Given the description of an element on the screen output the (x, y) to click on. 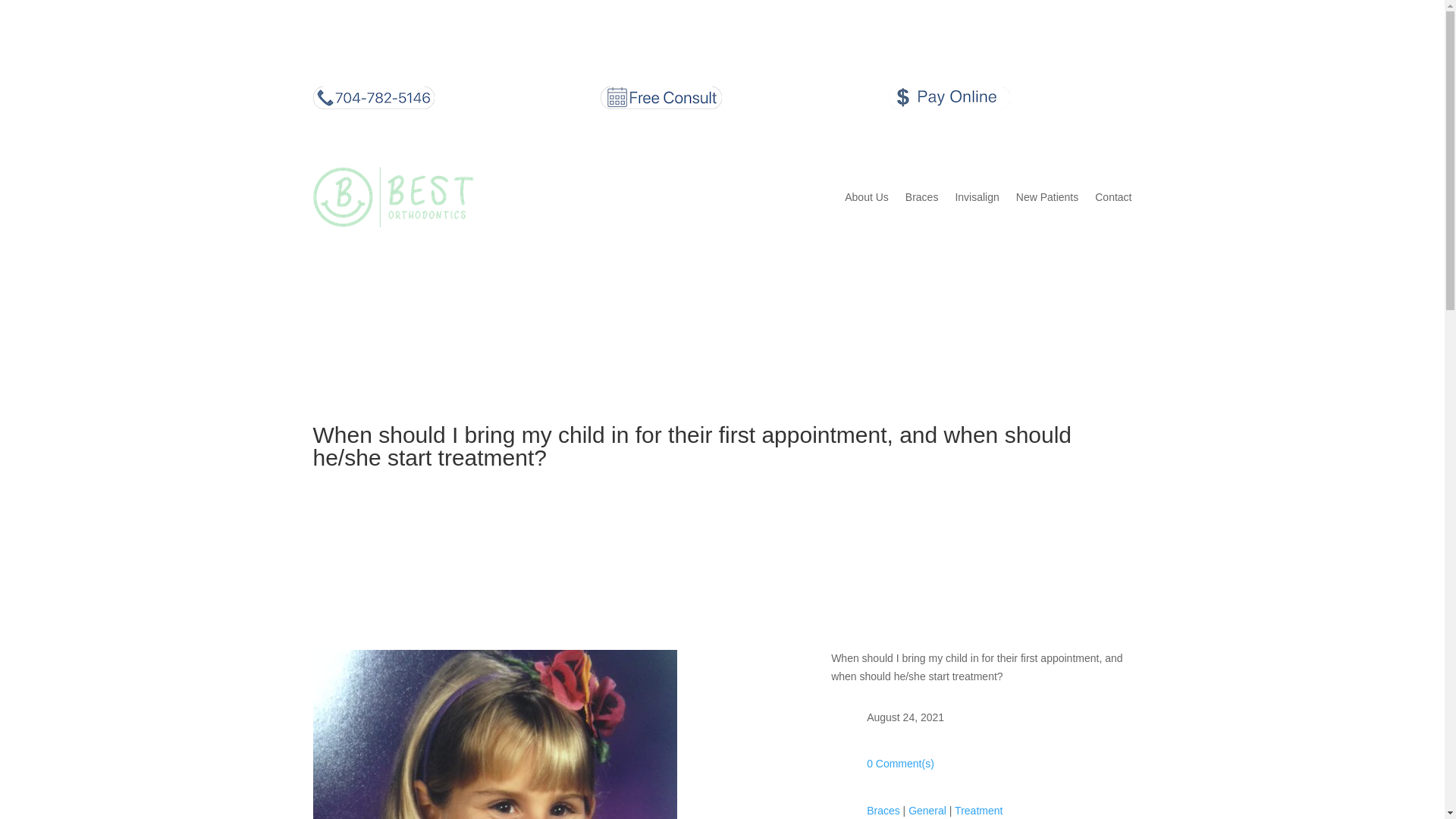
Braces (882, 810)
4934161C-D524-4FBC-AC94-23461221CE1D (495, 734)
New Patients (1047, 197)
Treatment (979, 810)
General (927, 810)
